Given the description of an element on the screen output the (x, y) to click on. 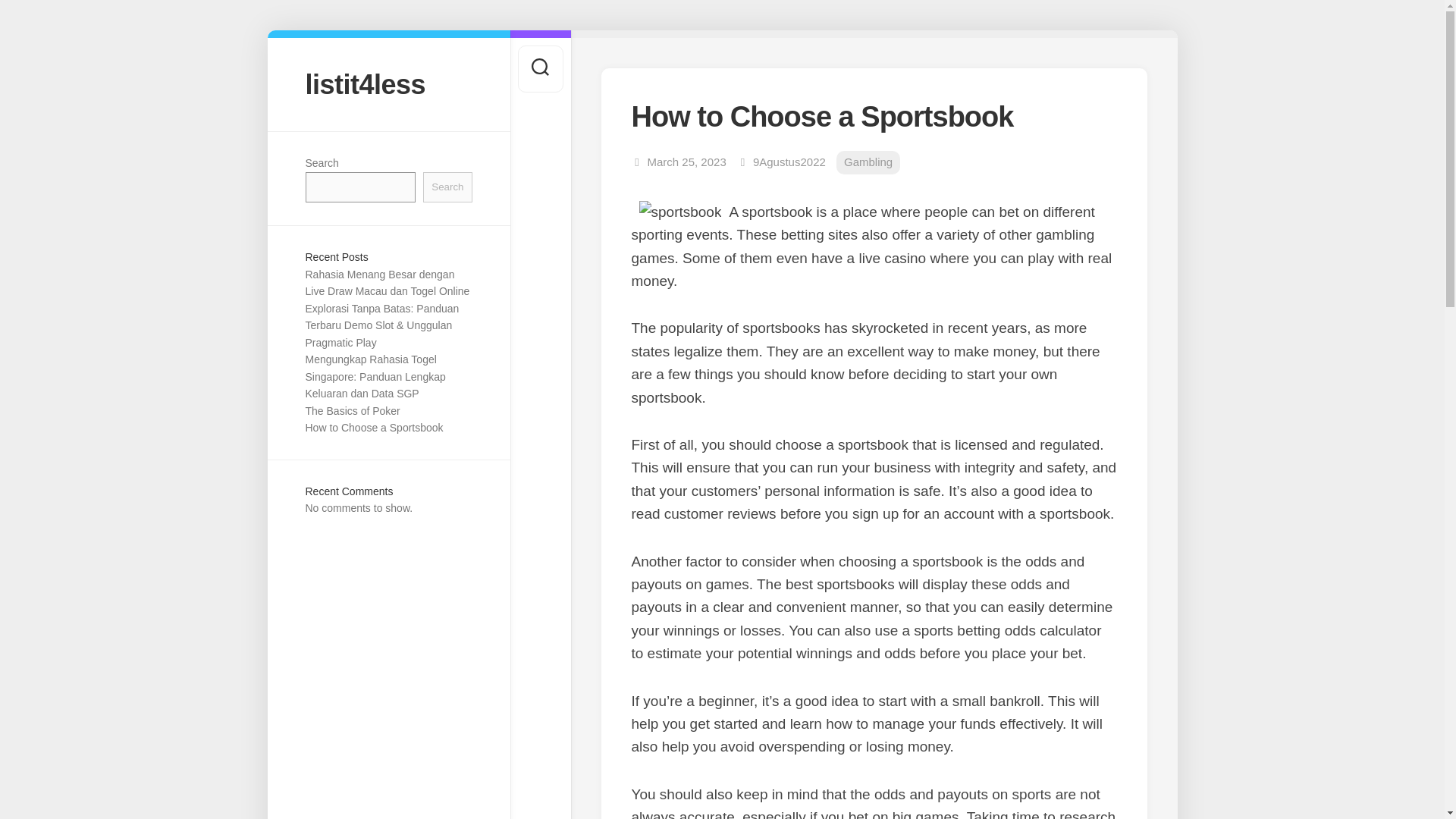
Search (447, 187)
Gambling (867, 162)
9Agustus2022 (788, 161)
How to Choose a Sportsbook (373, 427)
Posts by 9Agustus2022 (788, 161)
Rahasia Menang Besar dengan Live Draw Macau dan Togel Online (386, 283)
listit4less (387, 83)
The Basics of Poker (351, 410)
